Given the description of an element on the screen output the (x, y) to click on. 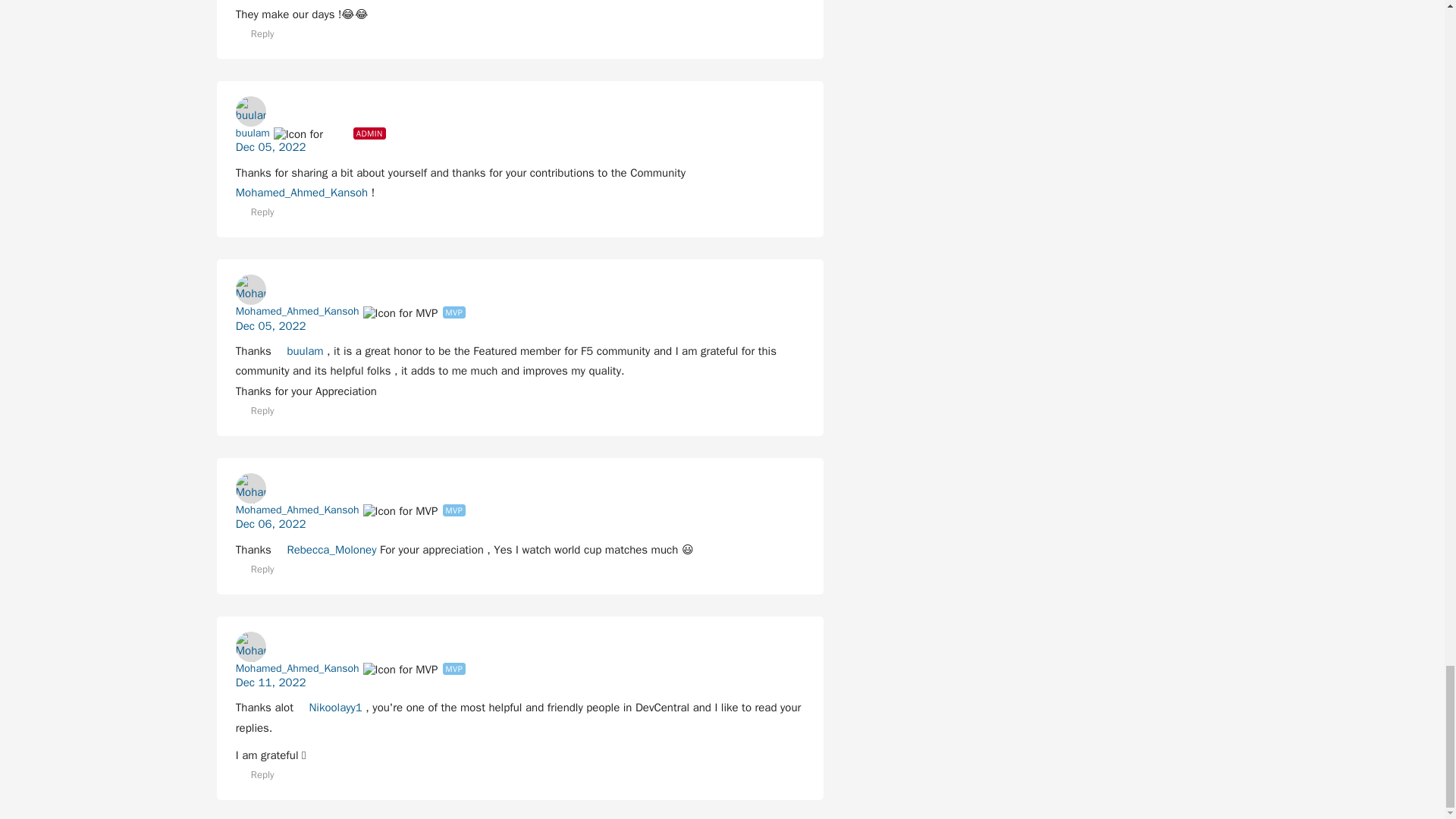
December 6, 2022 at 9:25 PM (270, 523)
December 5, 2022 at 9:53 PM (270, 325)
December 11, 2022 at 8:20 PM (270, 682)
December 5, 2022 at 9:06 PM (270, 146)
